Given the description of an element on the screen output the (x, y) to click on. 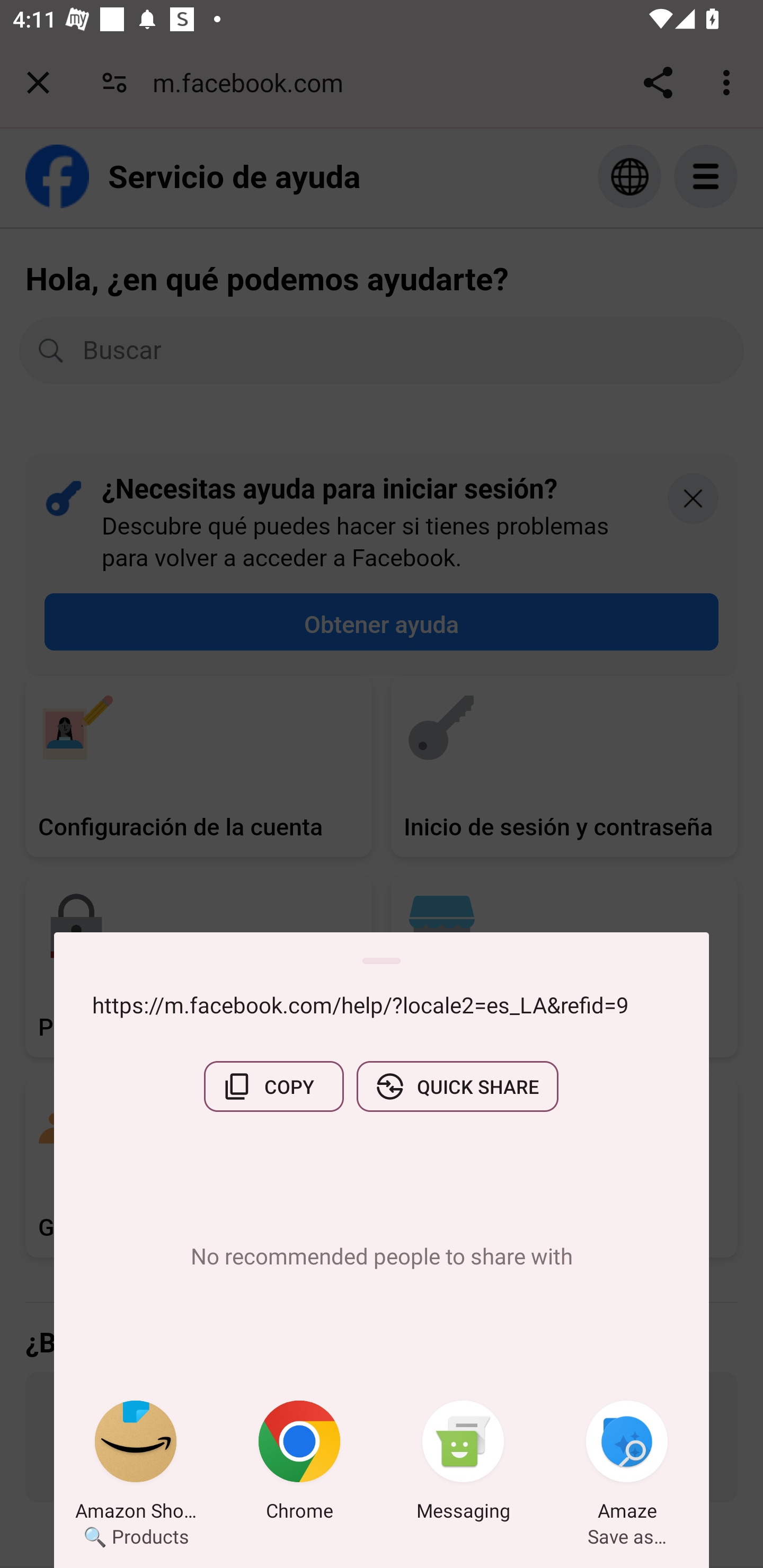
COPY (273, 1086)
QUICK SHARE (457, 1086)
Amazon Shopping 🔍 Products (135, 1463)
Chrome (299, 1463)
Messaging (463, 1463)
Amaze Save as… (626, 1463)
